Given the description of an element on the screen output the (x, y) to click on. 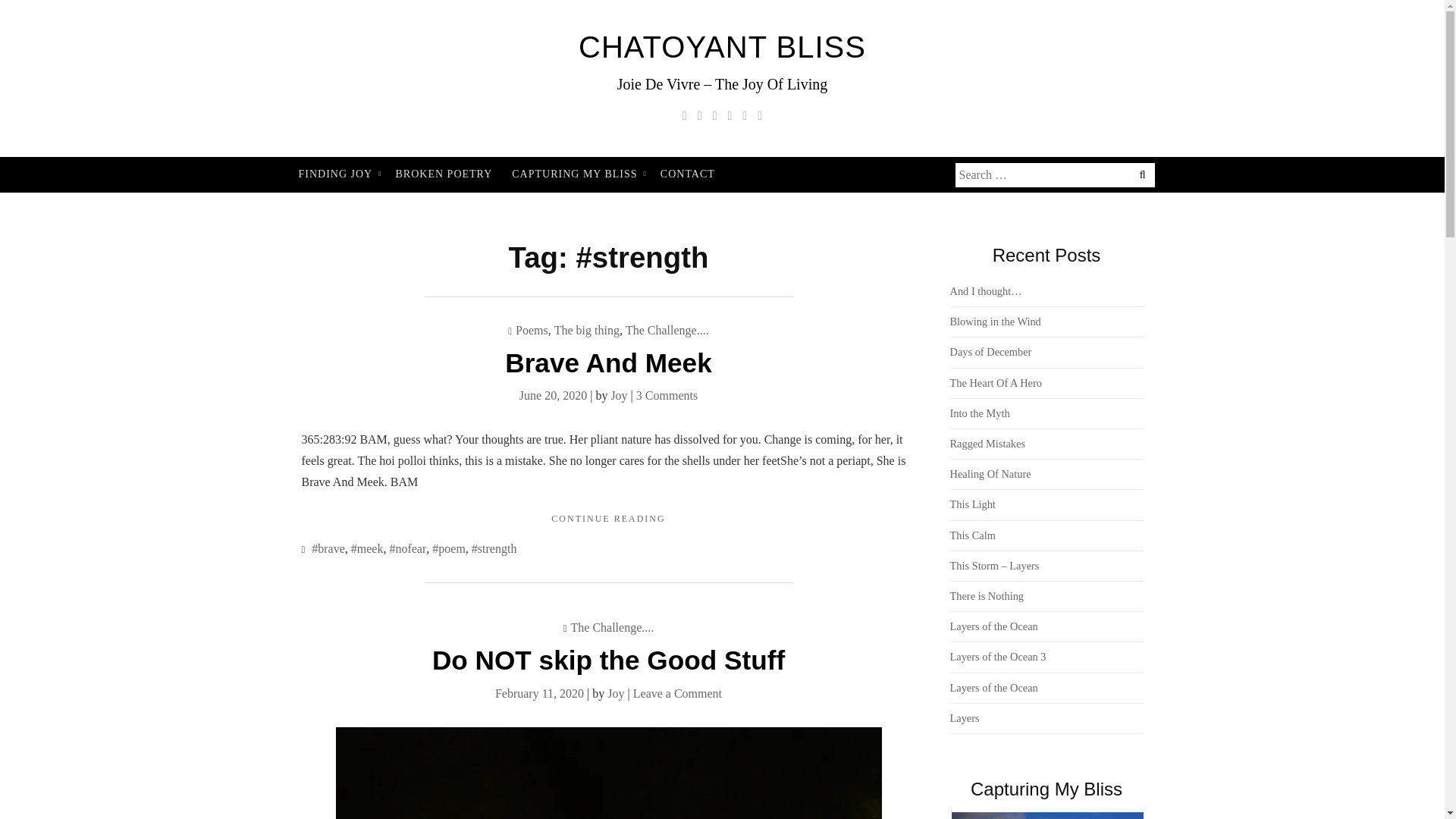
Joy (615, 693)
The Challenge.... (667, 329)
Search (99, 12)
Joy (618, 395)
CAPTURING MY BLISS (608, 519)
CONTACT (576, 174)
BROKEN POETRY (687, 174)
CHATOYANT BLISS (443, 174)
FINDING JOY (722, 46)
June 20, 2020 (336, 174)
February 11, 2020 (552, 395)
Poems (539, 693)
The big thing (531, 329)
Brave And Meek (587, 329)
